Given the description of an element on the screen output the (x, y) to click on. 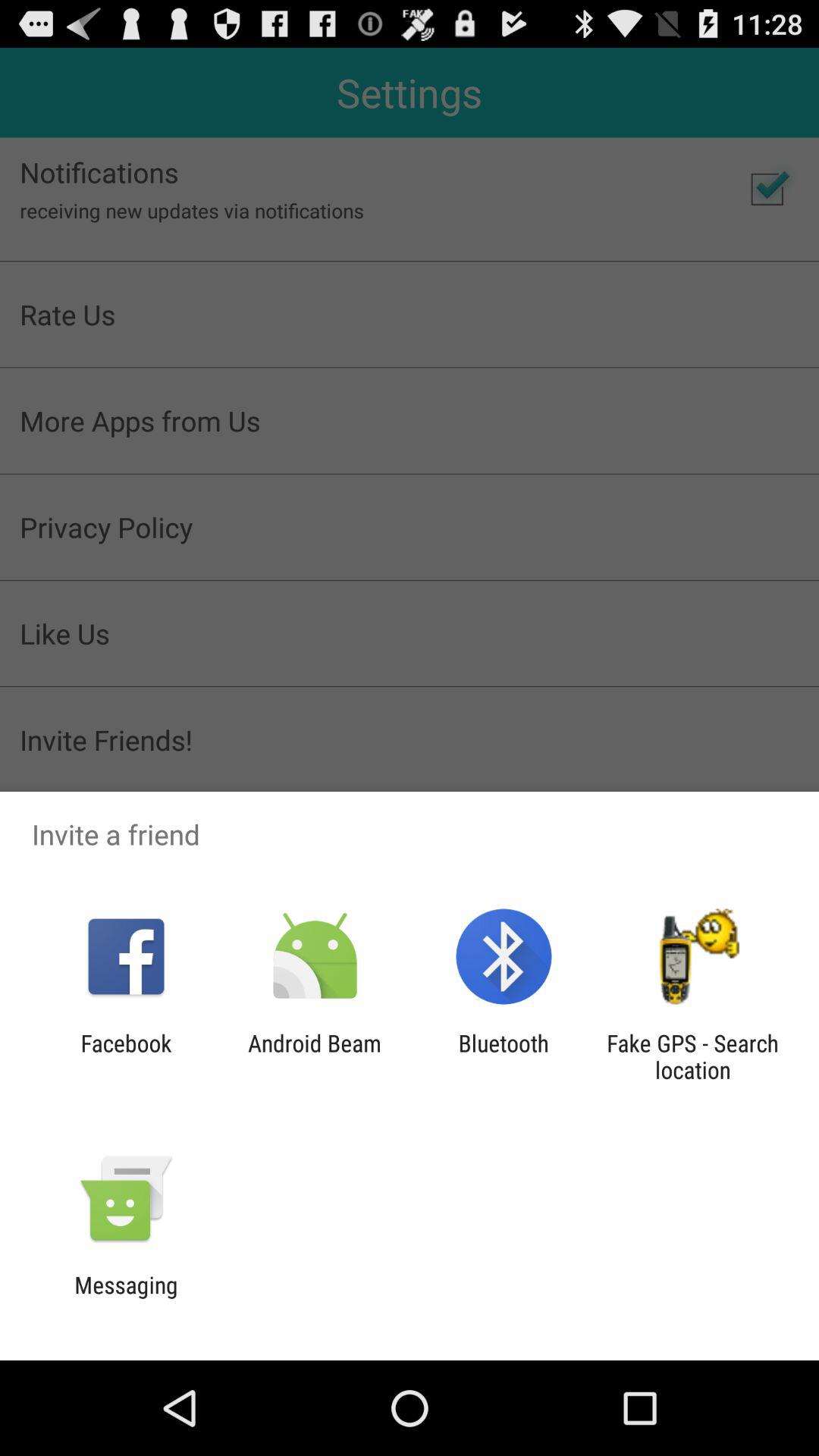
click the icon next to android beam app (125, 1056)
